Given the description of an element on the screen output the (x, y) to click on. 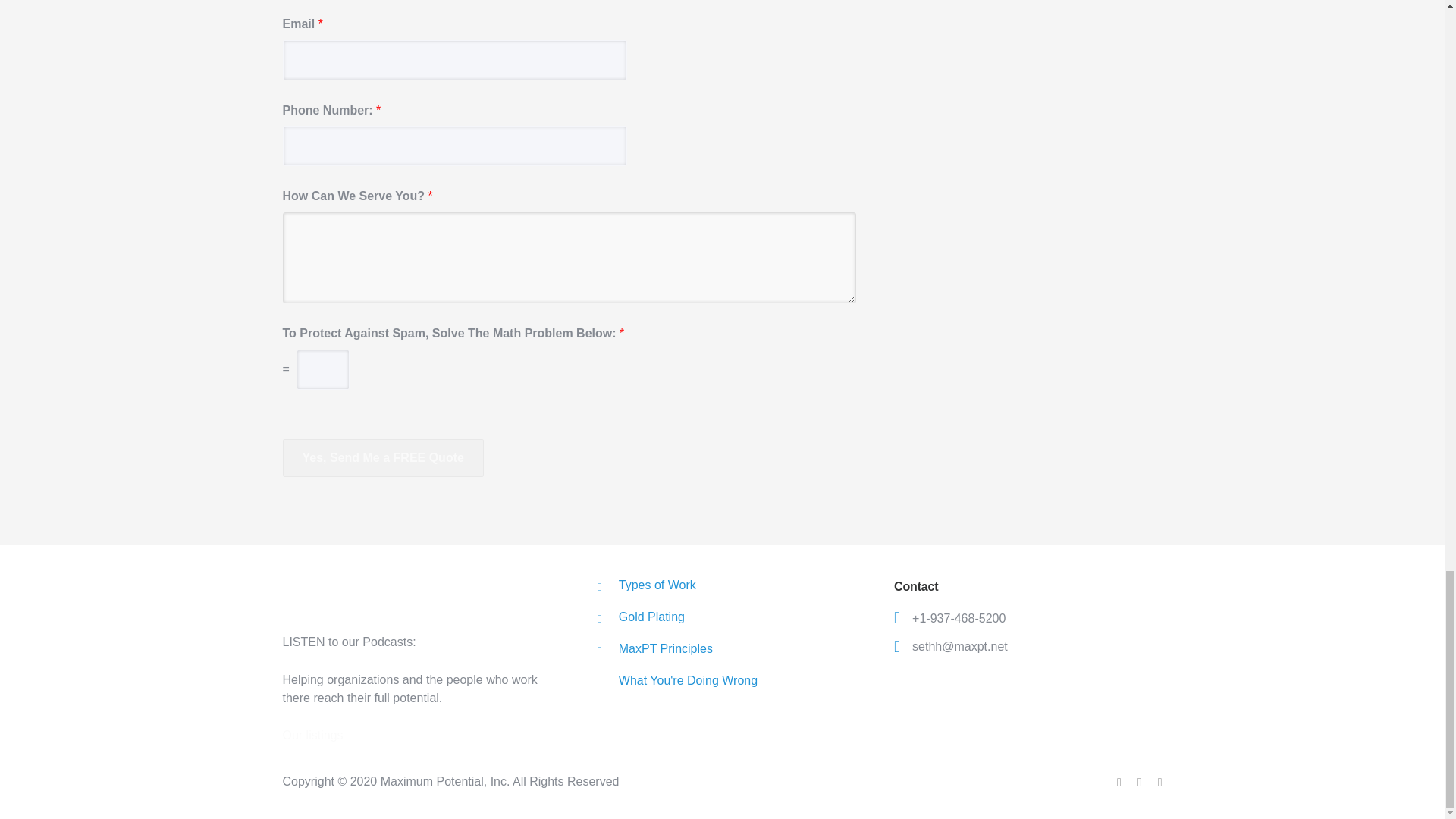
Types of Work (656, 584)
MaxPT Principles (665, 648)
Our listings (312, 735)
Gold Plating (651, 616)
Yes, Send Me a FREE Quote (382, 457)
